Given the description of an element on the screen output the (x, y) to click on. 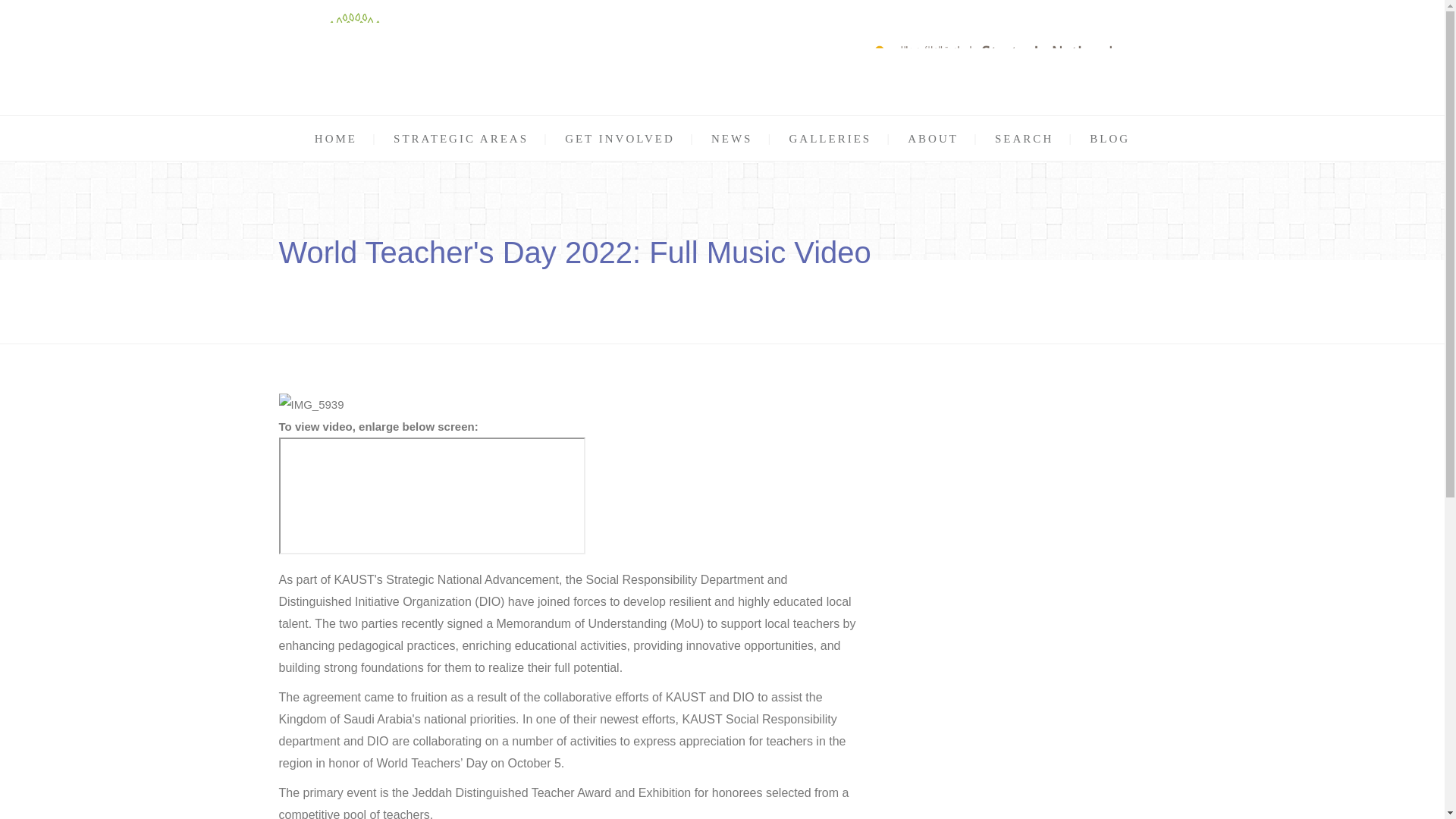
NEWS (731, 138)
GET INVOLVED (619, 138)
GALLERIES (830, 138)
HOME (335, 138)
SEARCH (1023, 138)
ABOUT (932, 138)
BLOG (1109, 138)
STRATEGIC AREAS (460, 138)
